Given the description of an element on the screen output the (x, y) to click on. 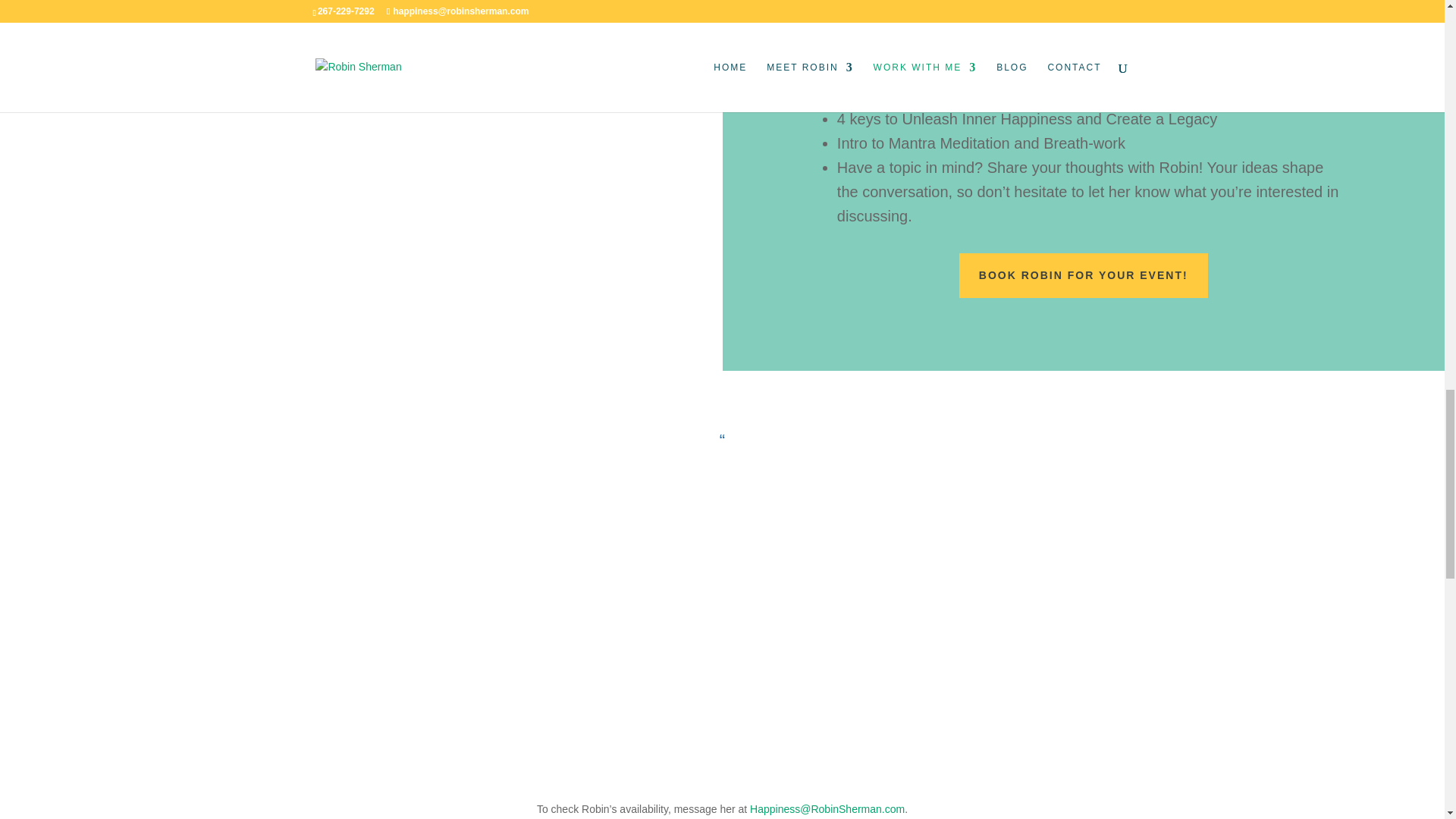
BOOK ROBIN FOR YOUR EVENT! (1083, 275)
Read More Testimonials (721, 740)
